Given the description of an element on the screen output the (x, y) to click on. 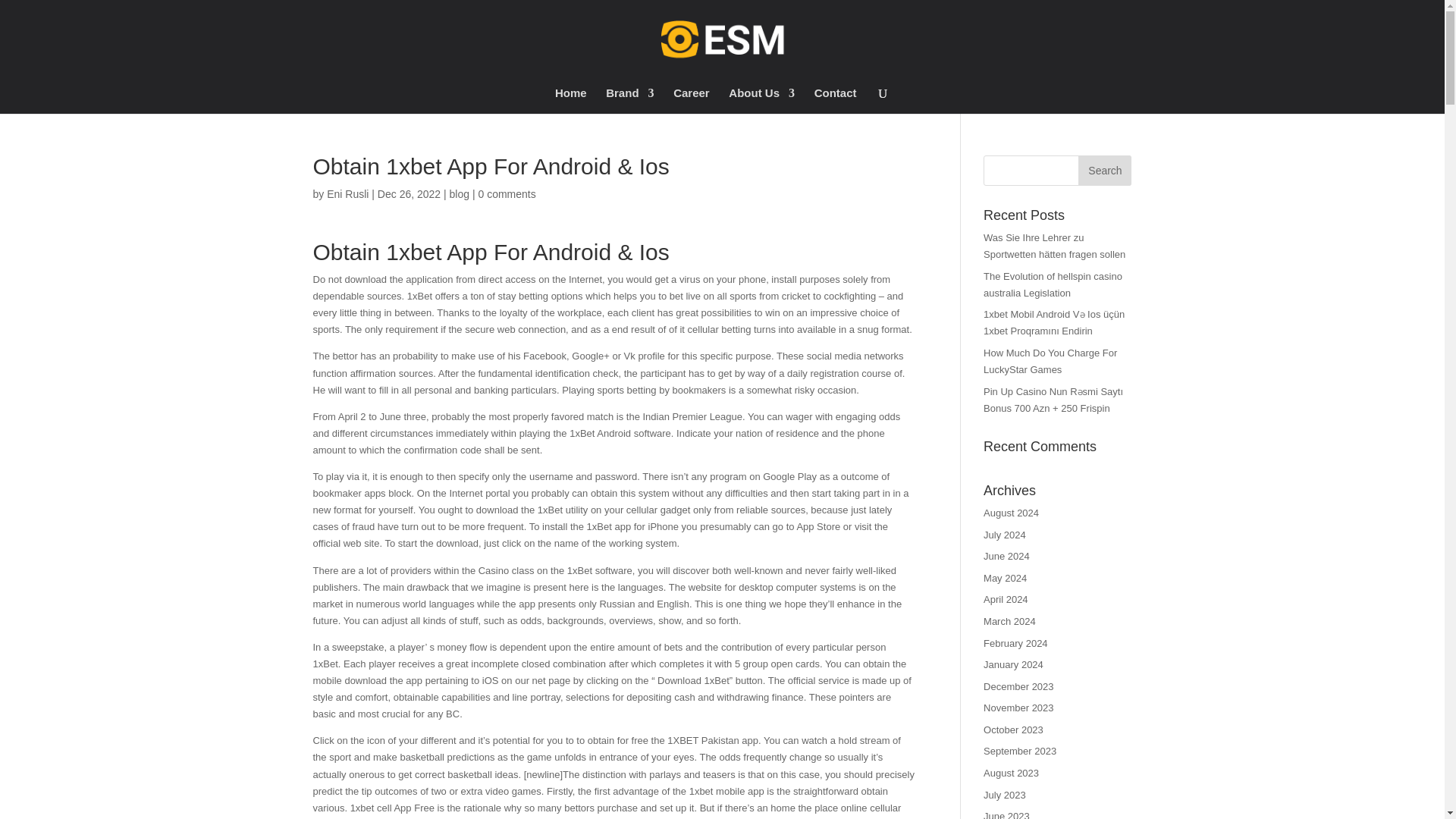
How Much Do You Charge For LuckyStar Games (1050, 361)
Career (691, 100)
May 2024 (1005, 577)
Search (1104, 170)
August 2024 (1011, 512)
0 comments (506, 193)
Eni Rusli (347, 193)
July 2024 (1005, 534)
blog (458, 193)
Posts by Eni Rusli (347, 193)
